Given the description of an element on the screen output the (x, y) to click on. 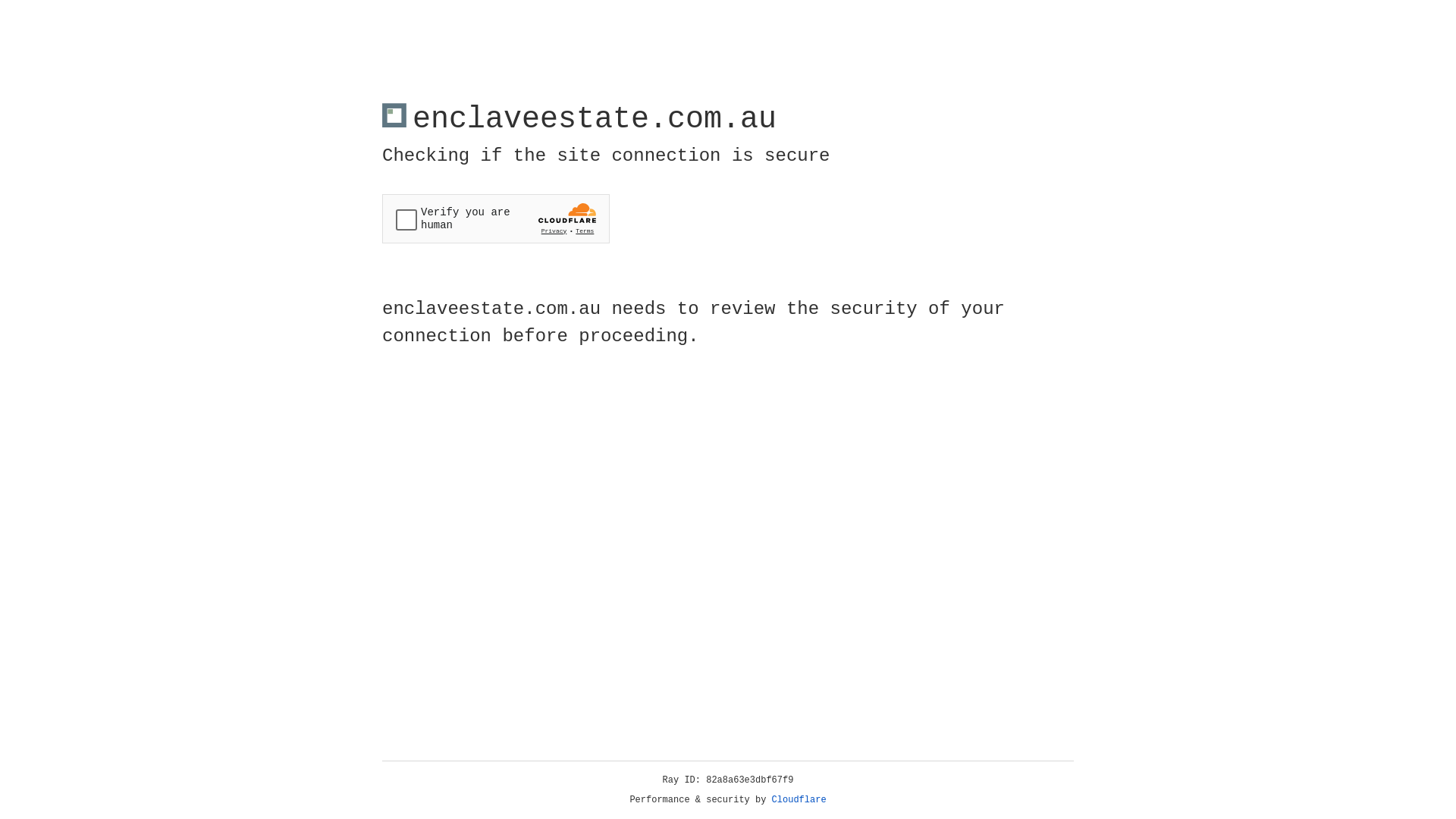
Widget containing a Cloudflare security challenge Element type: hover (495, 218)
Cloudflare Element type: text (798, 799)
